Given the description of an element on the screen output the (x, y) to click on. 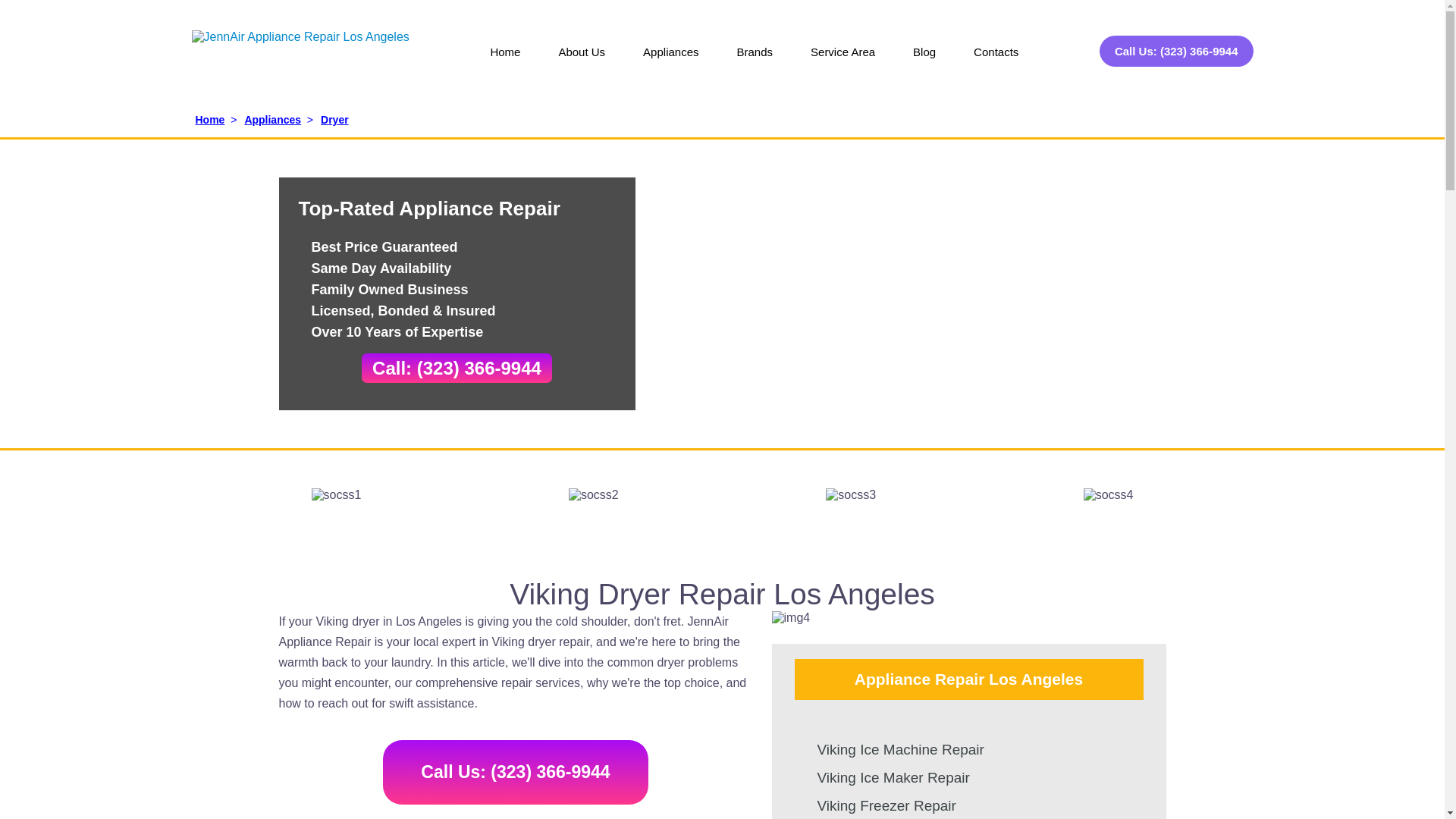
Brands (754, 62)
About Us (581, 62)
Home (504, 62)
Appliances (670, 62)
